Given the description of an element on the screen output the (x, y) to click on. 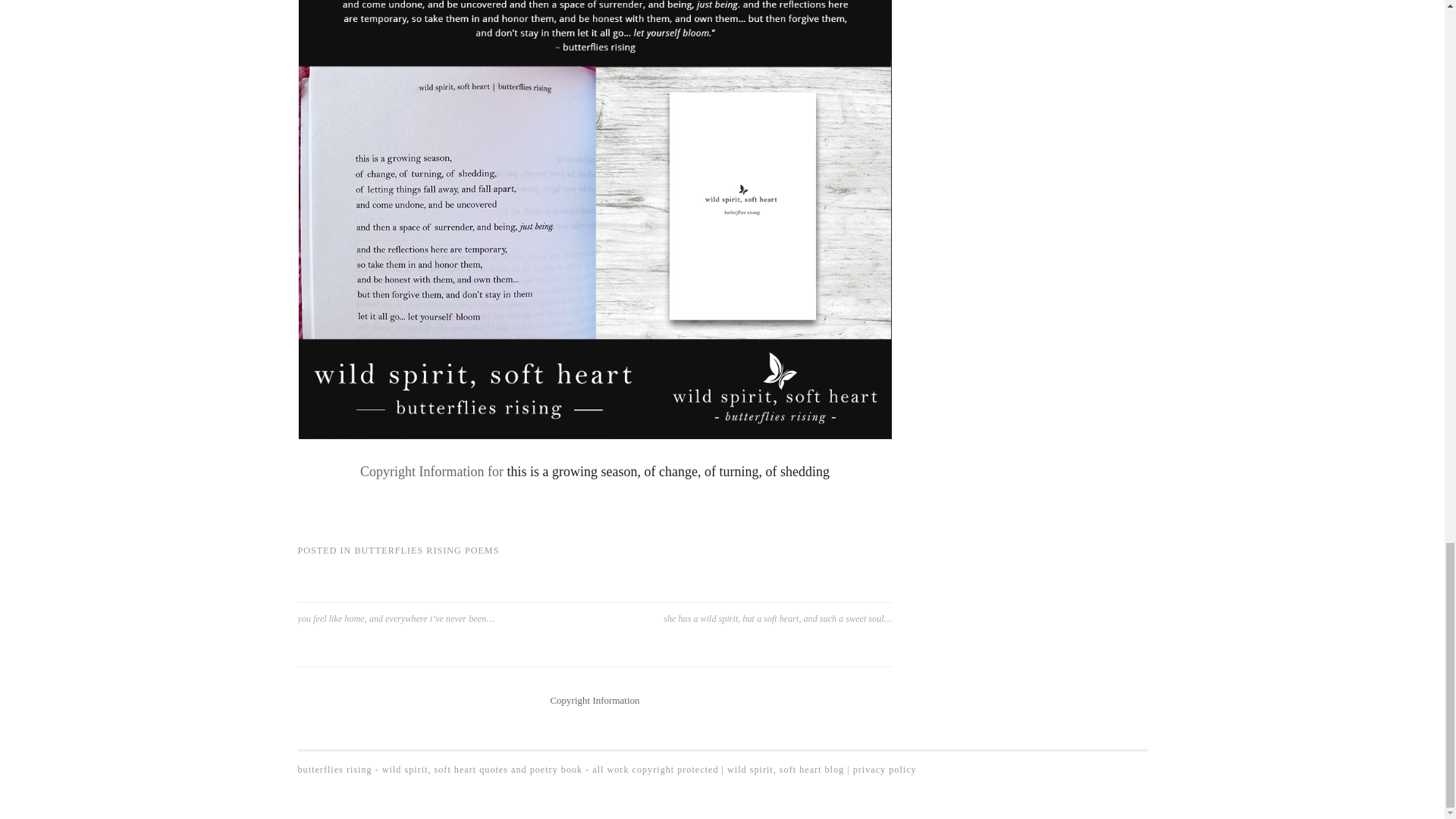
this is a growing season, of change, of turning, of shedding (667, 471)
wild spirit, soft heart (885, 769)
Copyright And Content Information (594, 699)
this is a growing season, of change, of turning, of shedding (667, 471)
wild spirit, soft heart blog (785, 769)
Copyright Information (594, 699)
privacy policy (885, 769)
wild spirit, soft heart blog (785, 769)
BUTTERFLIES RISING POEMS (426, 550)
